Given the description of an element on the screen output the (x, y) to click on. 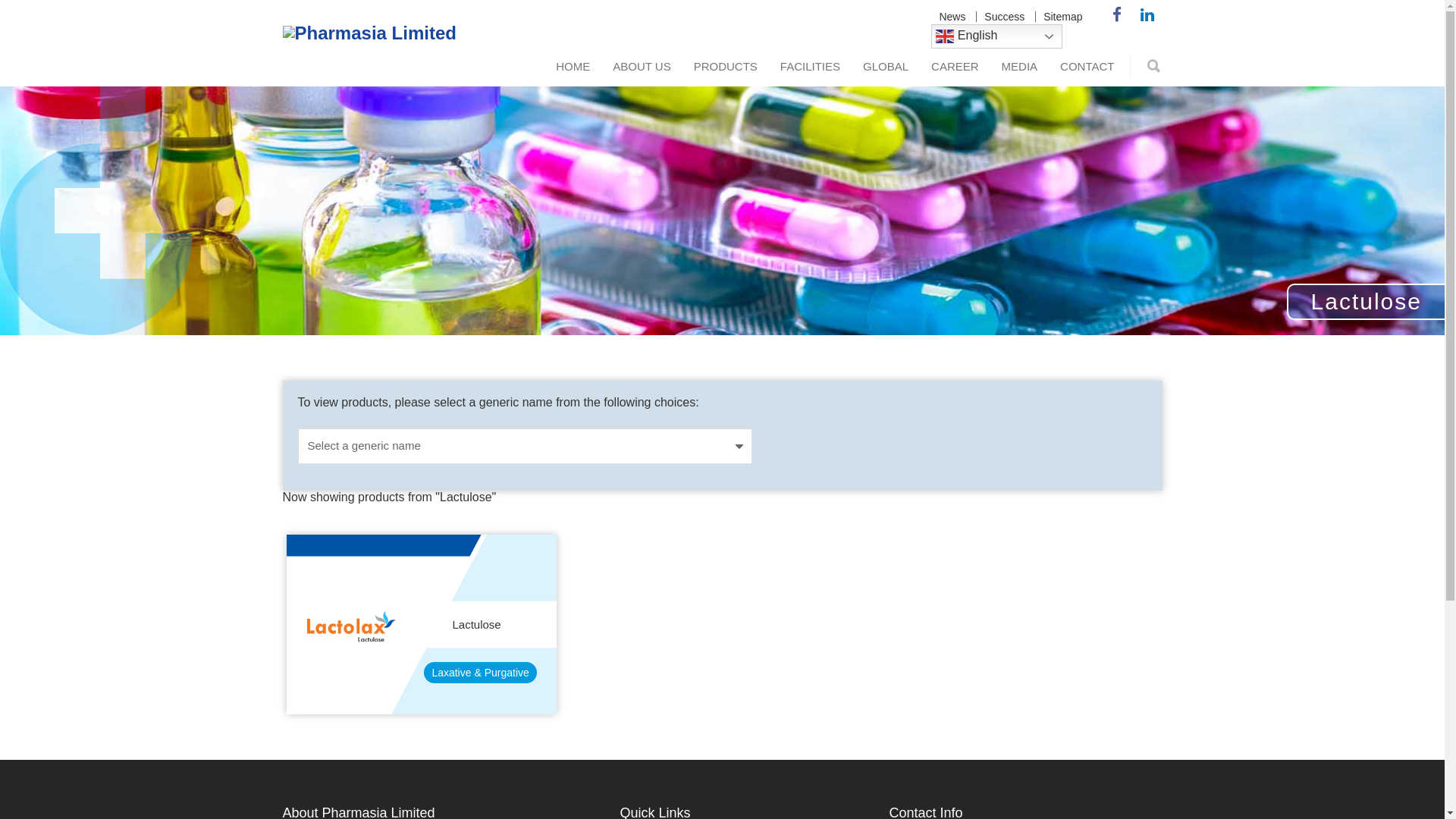
HOME Element type: text (572, 65)
English Element type: text (996, 36)
Facebook Element type: hover (1116, 15)
GLOBAL Element type: text (885, 65)
CAREER Element type: text (954, 65)
MEDIA Element type: text (1019, 65)
PRODUCTS Element type: text (725, 65)
Sitemap Element type: text (1062, 16)
News Element type: text (951, 16)
LinkedIn Element type: hover (1146, 15)
ABOUT US Element type: text (641, 65)
CONTACT Element type: text (1086, 65)
Lactulose
Laxative & Purgative Element type: text (421, 623)
Success Element type: text (1004, 16)
FACILITIES Element type: text (809, 65)
